Given the description of an element on the screen output the (x, y) to click on. 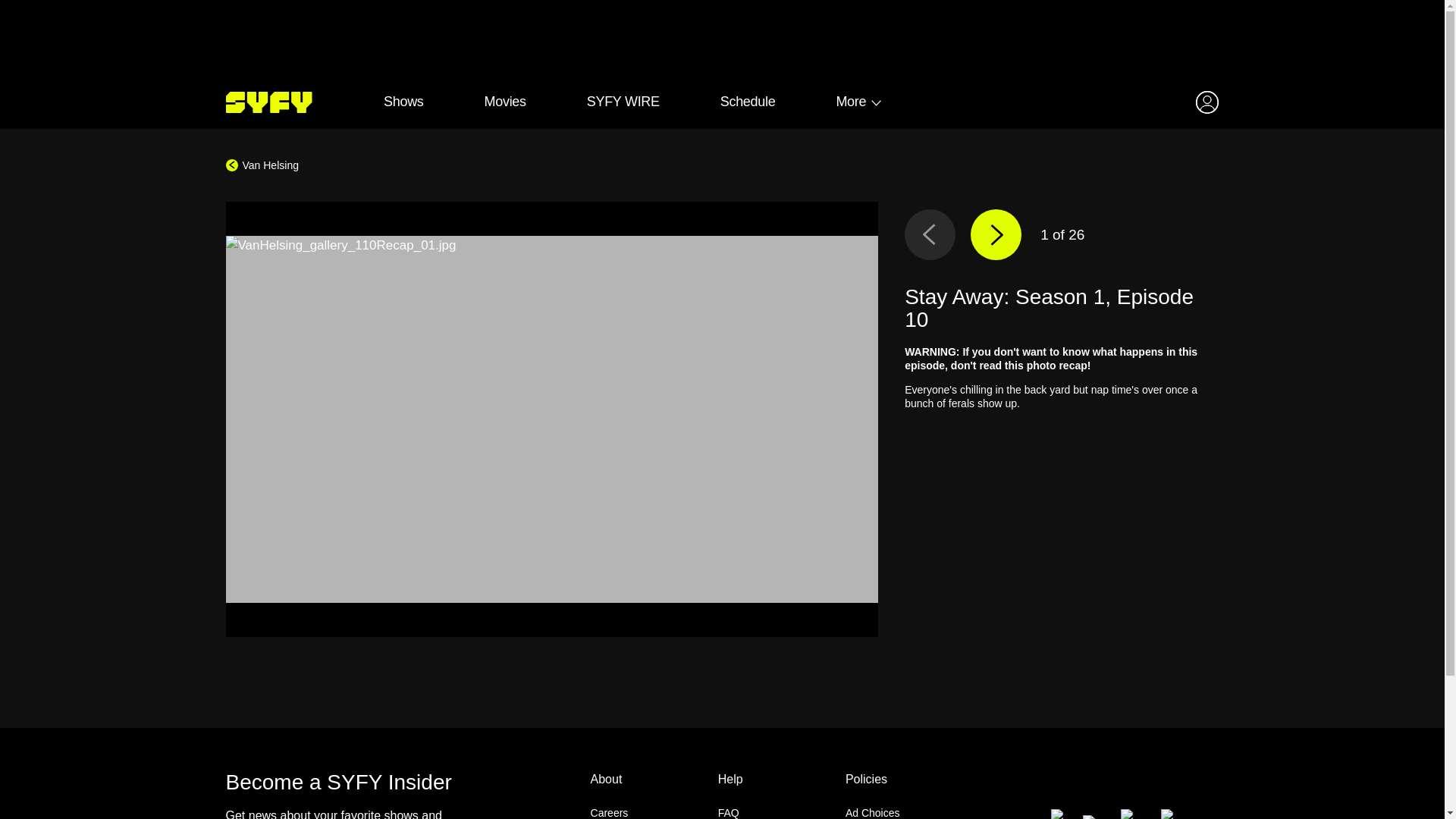
Careers (609, 812)
Movies (504, 101)
FAQ (728, 812)
Van Helsing (261, 164)
Schedule (746, 101)
Shows (403, 101)
More (850, 101)
Ad Choices (872, 812)
SYFY WIRE (622, 101)
